Given the description of an element on the screen output the (x, y) to click on. 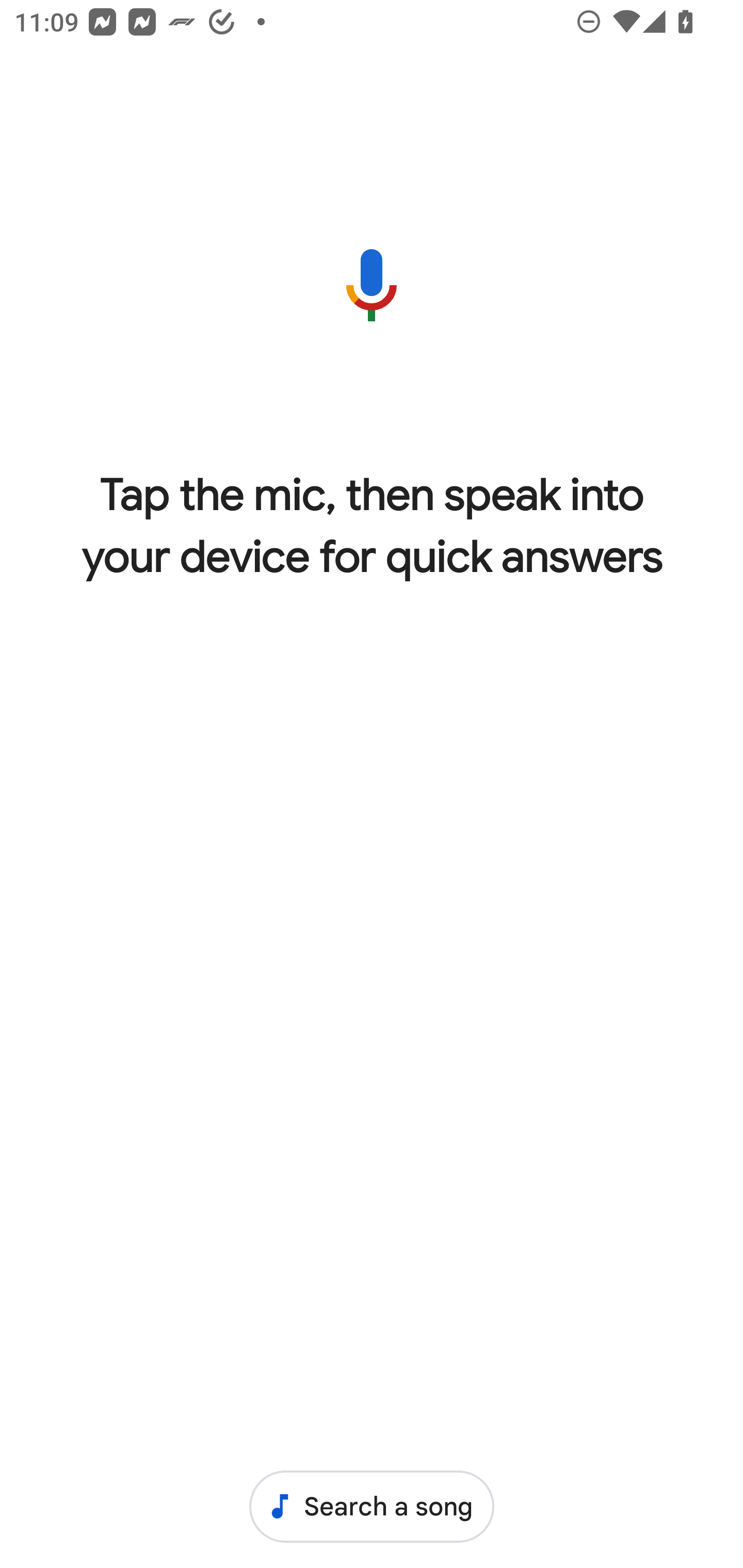
Search a song (371, 1505)
